Given the description of an element on the screen output the (x, y) to click on. 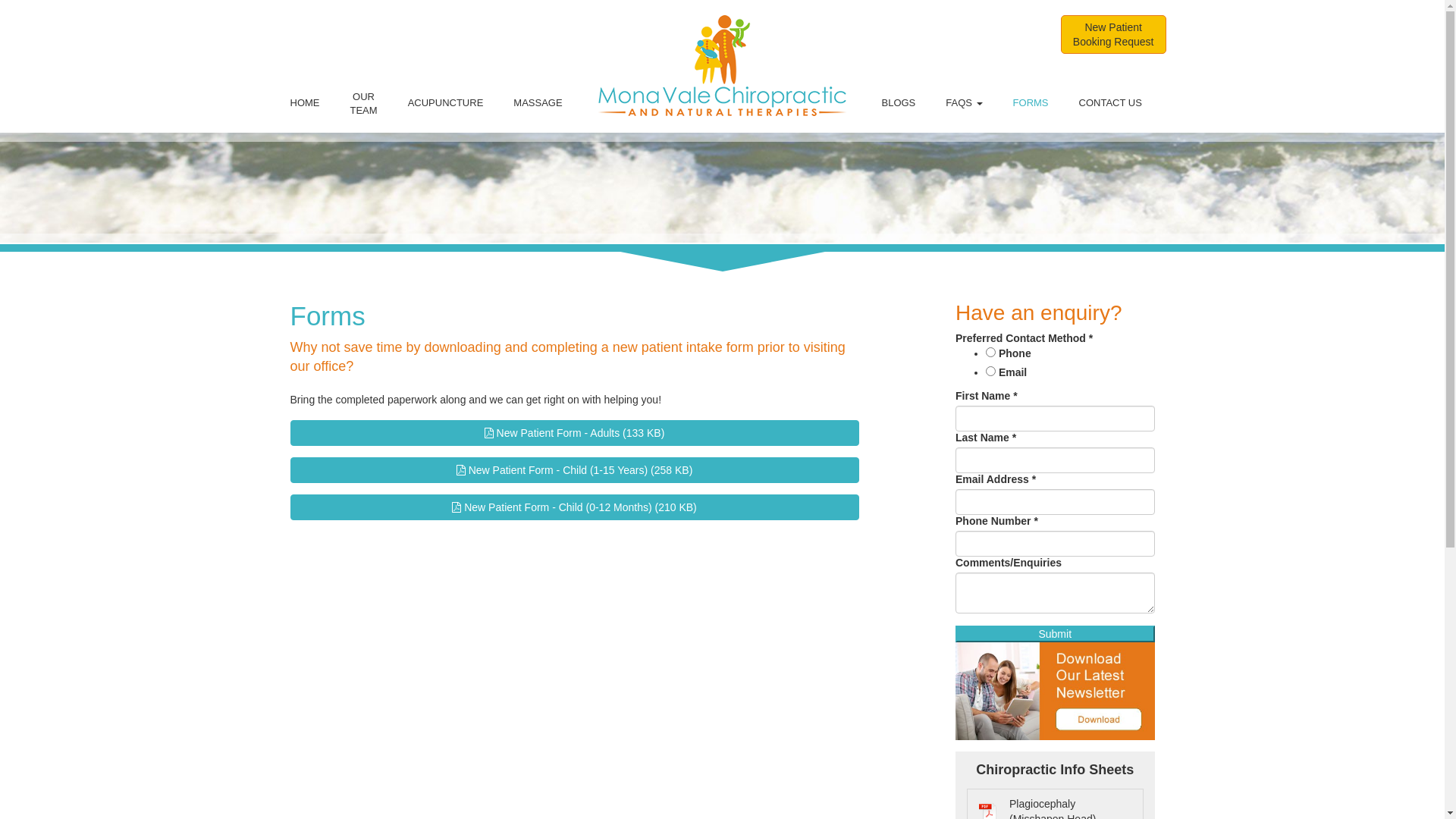
CONTACT US Element type: text (1110, 102)
MASSAGE Element type: text (537, 102)
Submit Element type: text (1054, 633)
 New Patient Form - Child (1-15 Years) (258 KB) Element type: text (573, 470)
 New Patient Form - Adults (133 KB) Element type: text (573, 432)
 New Patient Form - Child (0-12 Months) (210 KB) Element type: text (573, 507)
OUR
TEAM Element type: text (363, 103)
New Patient
Booking Request Element type: text (1113, 34)
ACUPUNCTURE Element type: text (445, 102)
FAQS Element type: text (963, 102)
HOME Element type: text (304, 102)
FORMS Element type: text (1030, 102)
BLOGS Element type: text (898, 102)
